Given the description of an element on the screen output the (x, y) to click on. 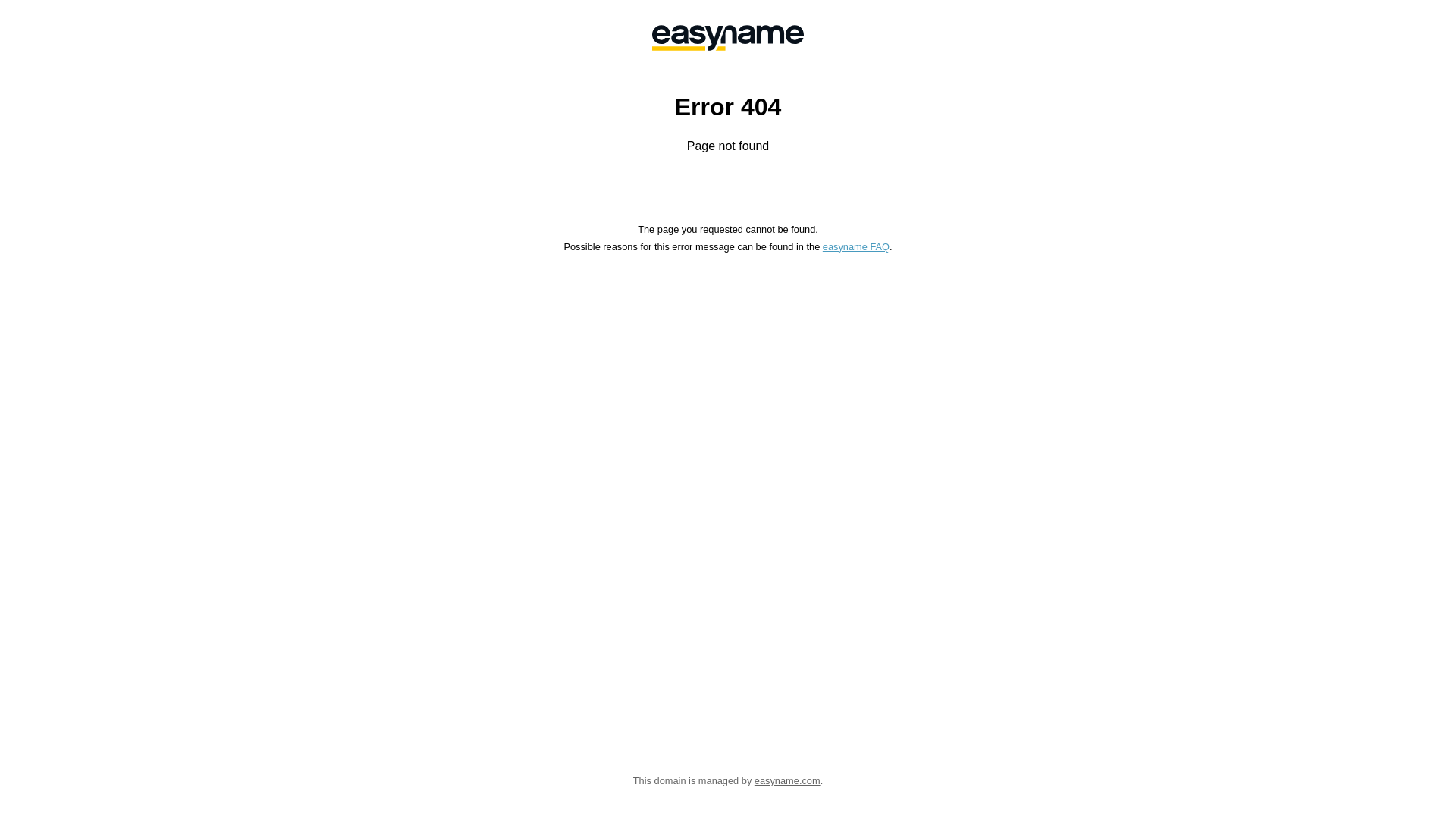
easyname FAQ Element type: text (855, 246)
easyname.com Element type: text (787, 780)
easyname GmbH Element type: hover (727, 37)
